Given the description of an element on the screen output the (x, y) to click on. 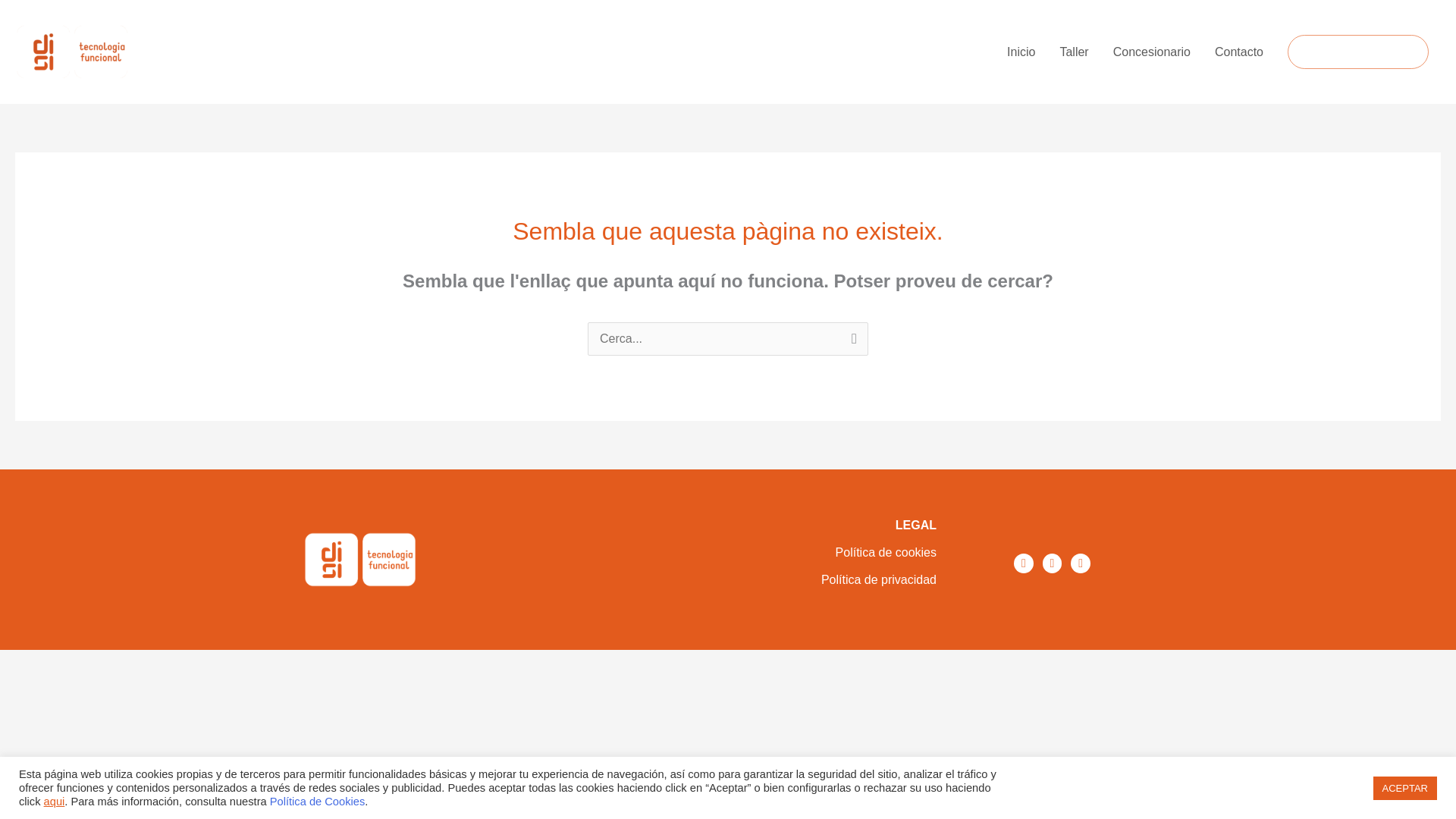
Empezar ahora (1357, 51)
Cerca (850, 342)
Linkedin-in (1052, 563)
Concesionario (1151, 51)
Envelope (1080, 563)
Cerca (850, 342)
Cerca (850, 342)
Whatsapp (1023, 563)
Inicio (1020, 51)
Contacto (1238, 51)
Taller (1073, 51)
